Given the description of an element on the screen output the (x, y) to click on. 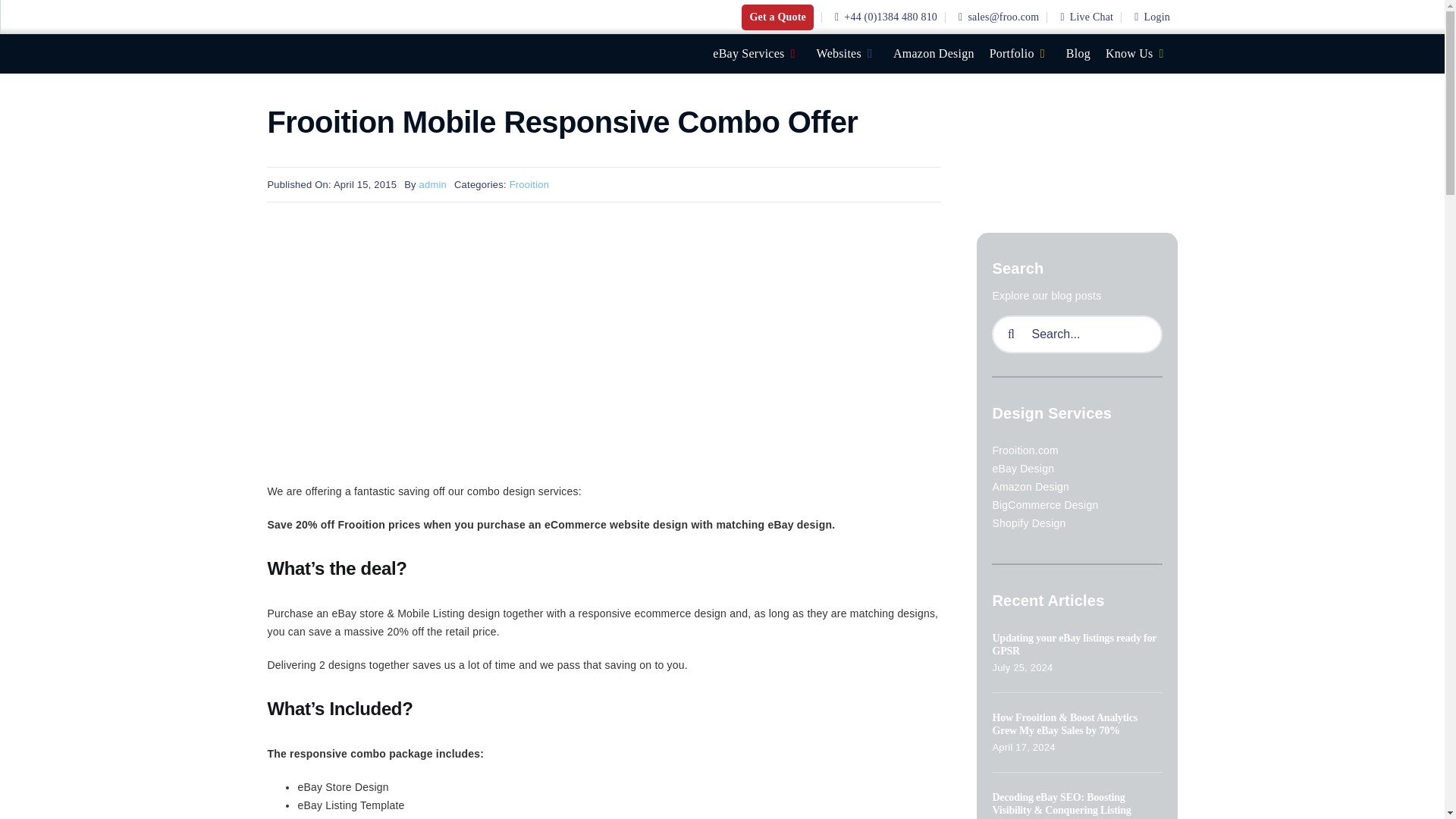
eBay Services (760, 53)
Login (1149, 17)
Mobile Responsive Offer (494, 345)
Live Chat (1083, 17)
Get a Quote (777, 17)
Posts by admin (432, 184)
